Given the description of an element on the screen output the (x, y) to click on. 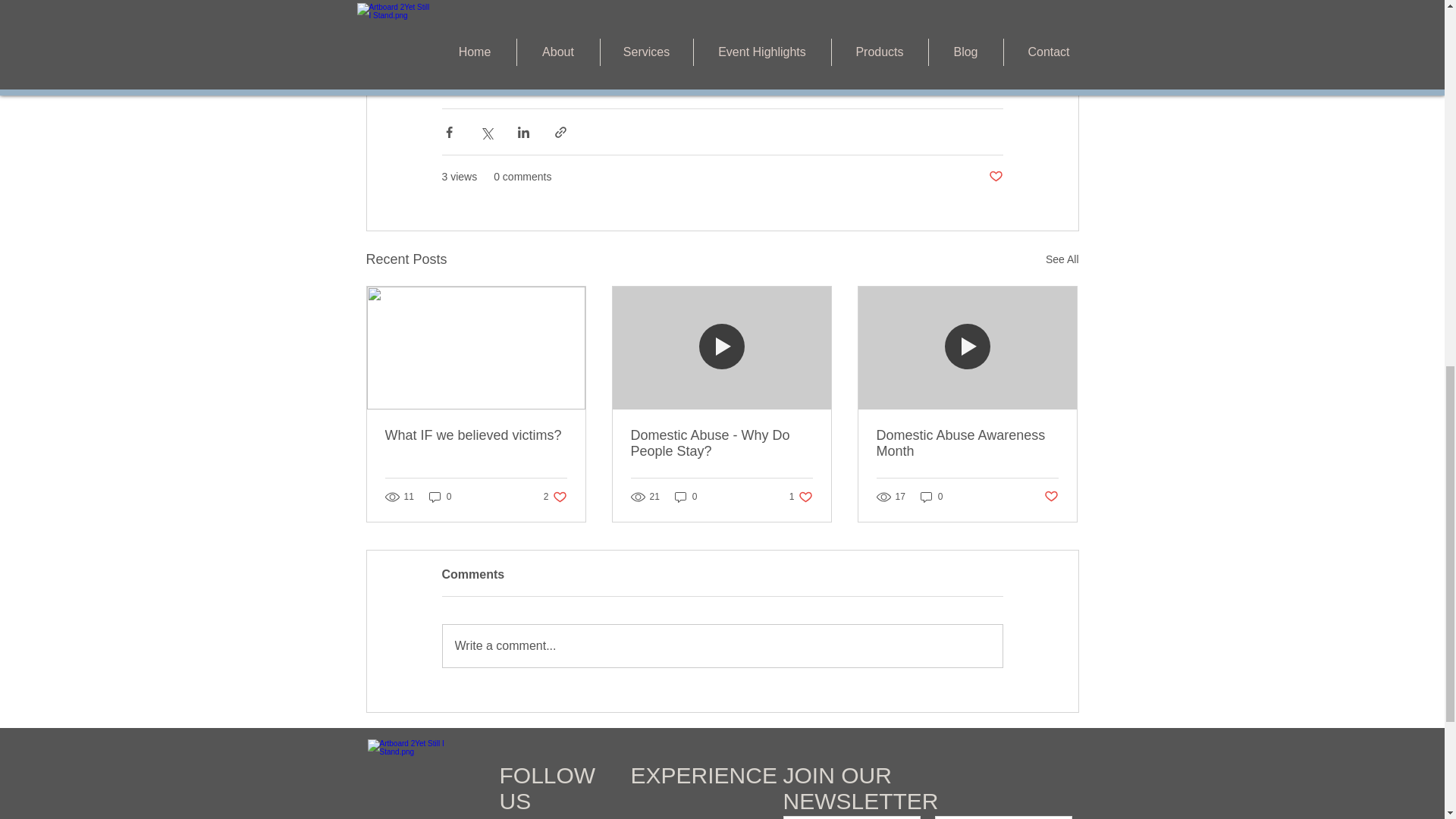
0 (685, 496)
Domestic Abuse Awareness Month (800, 496)
Domestic Abuse - Why Do People Stay? (967, 443)
See All (721, 443)
0 (1061, 259)
Write a comment... (555, 496)
Post not marked as liked (931, 496)
0 (722, 645)
What IF we believed victims? (995, 176)
Post not marked as liked (440, 496)
